Given the description of an element on the screen output the (x, y) to click on. 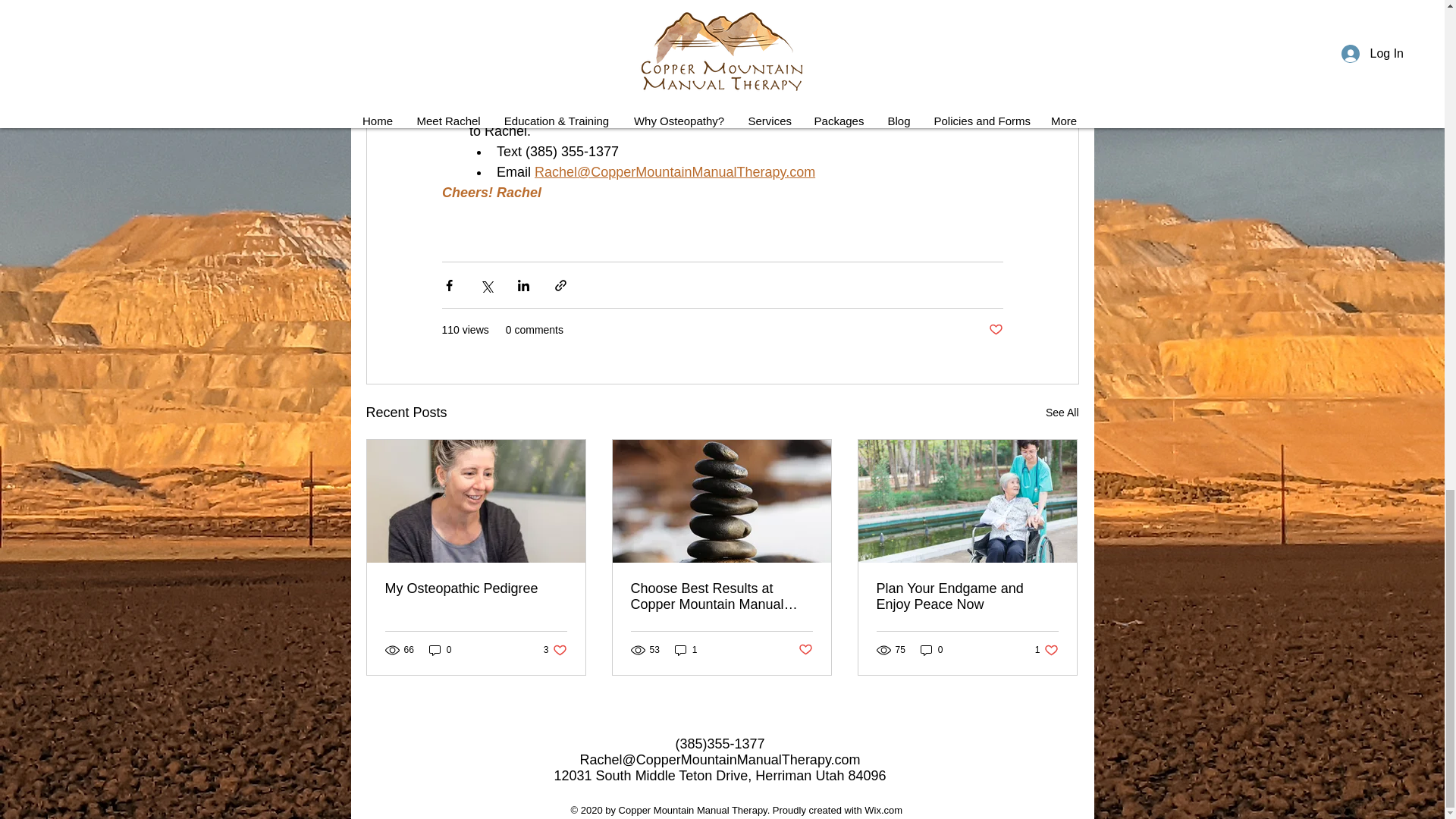
Choose Best Results at Copper Mountain Manual Therapy (1046, 649)
Post not marked as liked (721, 596)
0 (804, 650)
Post not marked as liked (555, 649)
See All (931, 649)
Plan Your Endgame and Enjoy Peace Now (995, 330)
Wix.com (1061, 413)
0 (967, 596)
